Given the description of an element on the screen output the (x, y) to click on. 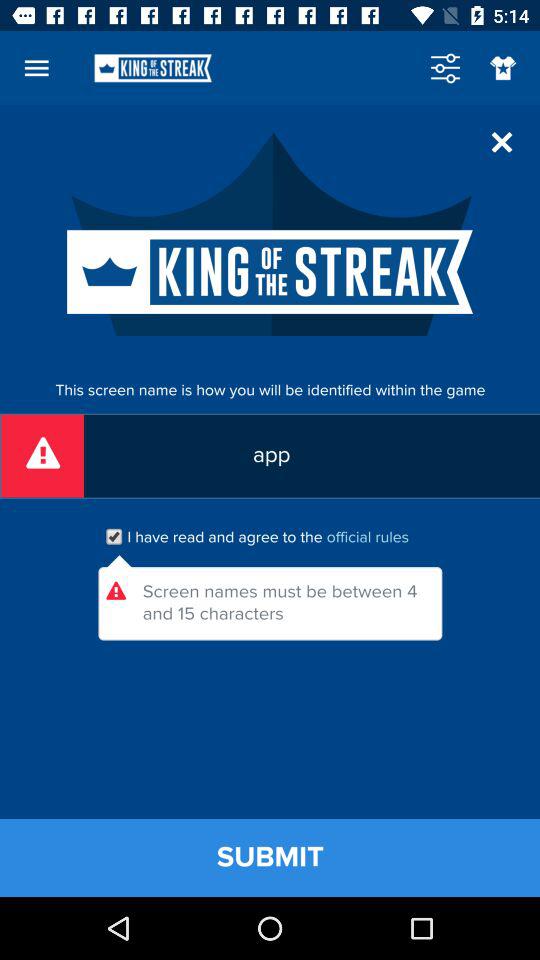
settings (445, 68)
